Given the description of an element on the screen output the (x, y) to click on. 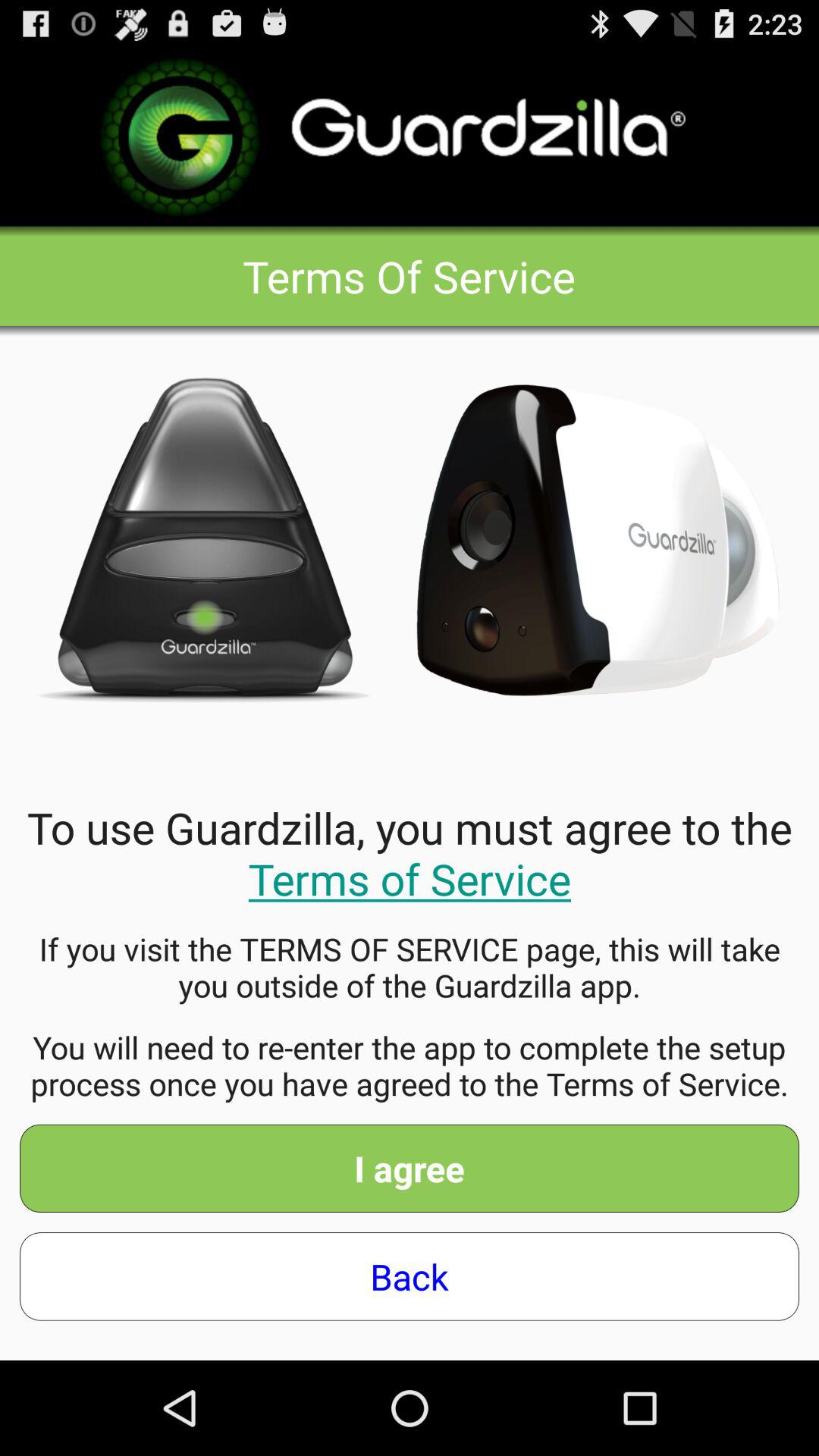
flip until the back item (409, 1276)
